Given the description of an element on the screen output the (x, y) to click on. 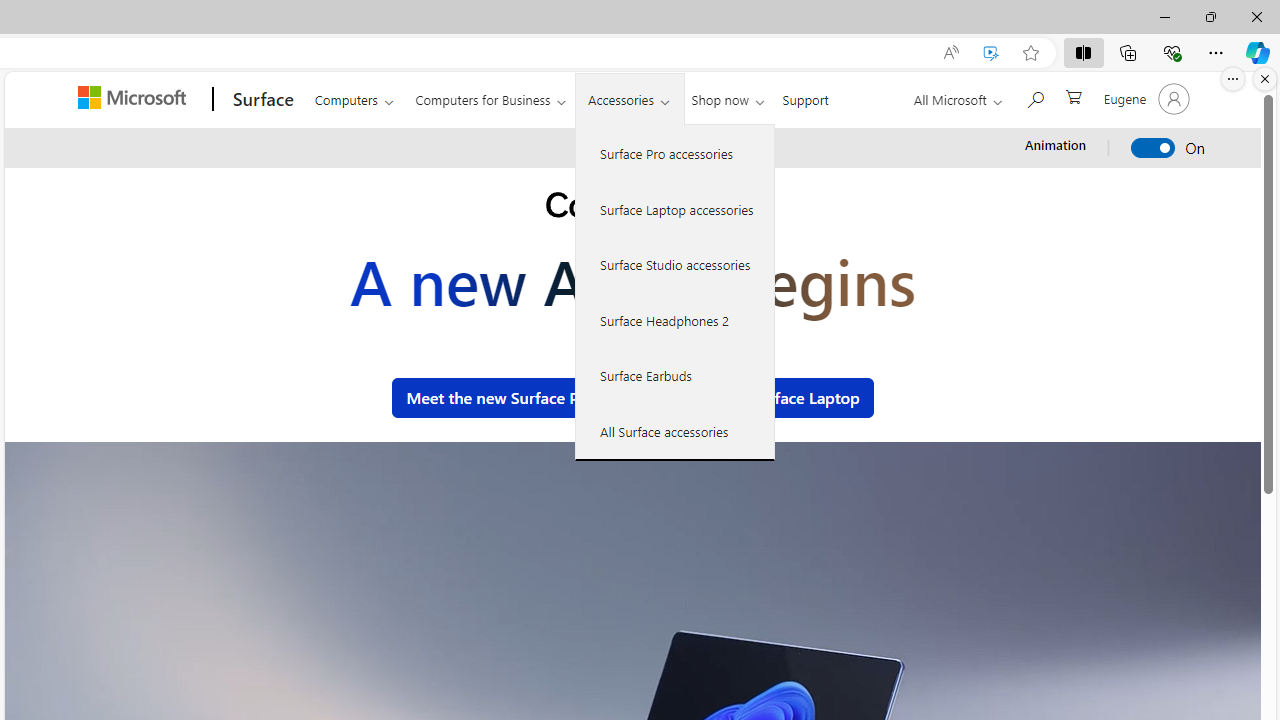
Surface Headphones 2 (675, 319)
All Surface accessories (675, 431)
Surface Pro accessories (675, 153)
Meet the new Surface Pro (499, 397)
Surface Studio accessories (675, 264)
Surface Laptop accessories (675, 208)
Surface Earbuds (675, 375)
Animation On (1153, 147)
More options. (1233, 79)
